Given the description of an element on the screen output the (x, y) to click on. 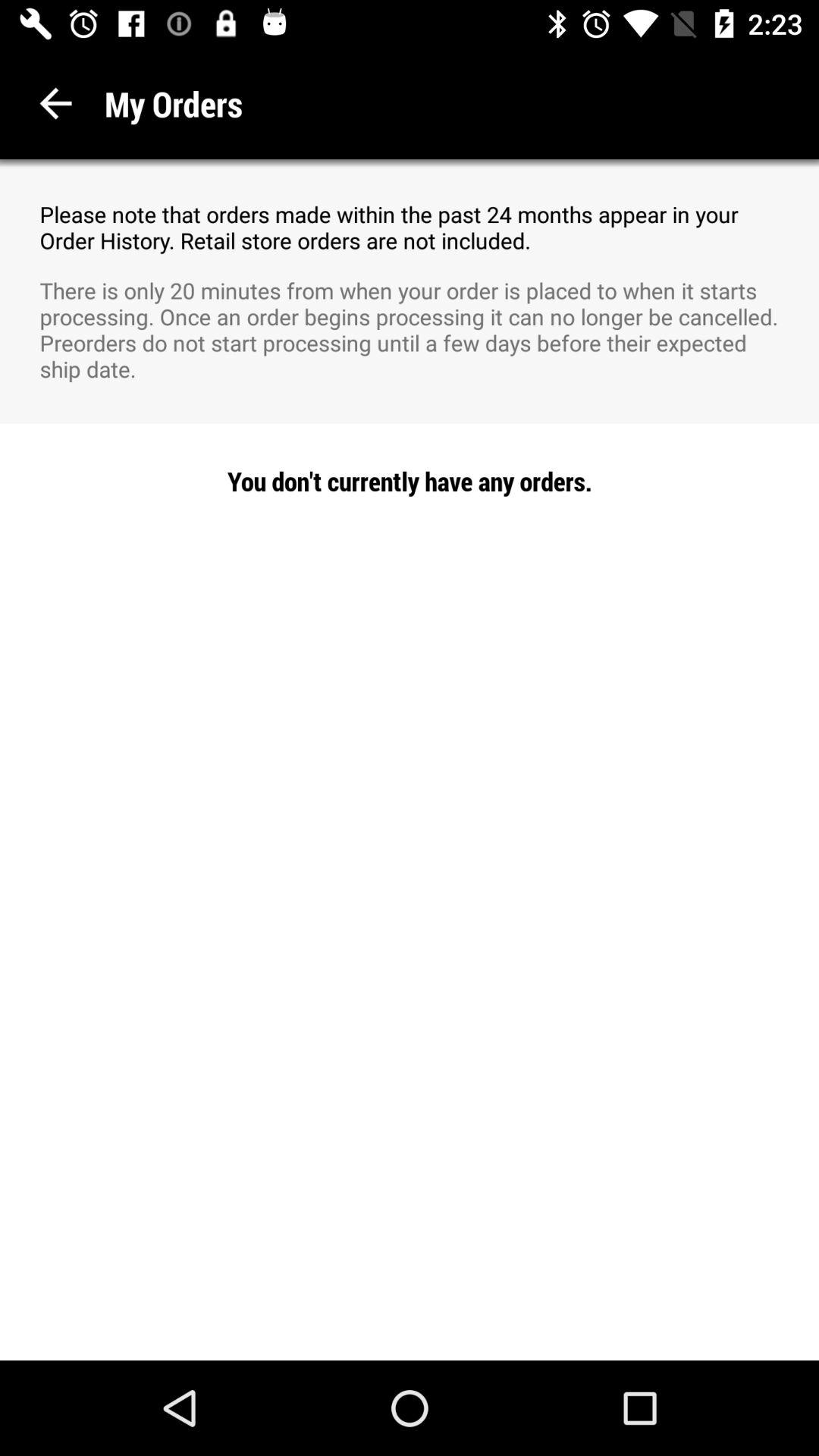
turn on icon next to the my orders item (55, 103)
